Given the description of an element on the screen output the (x, y) to click on. 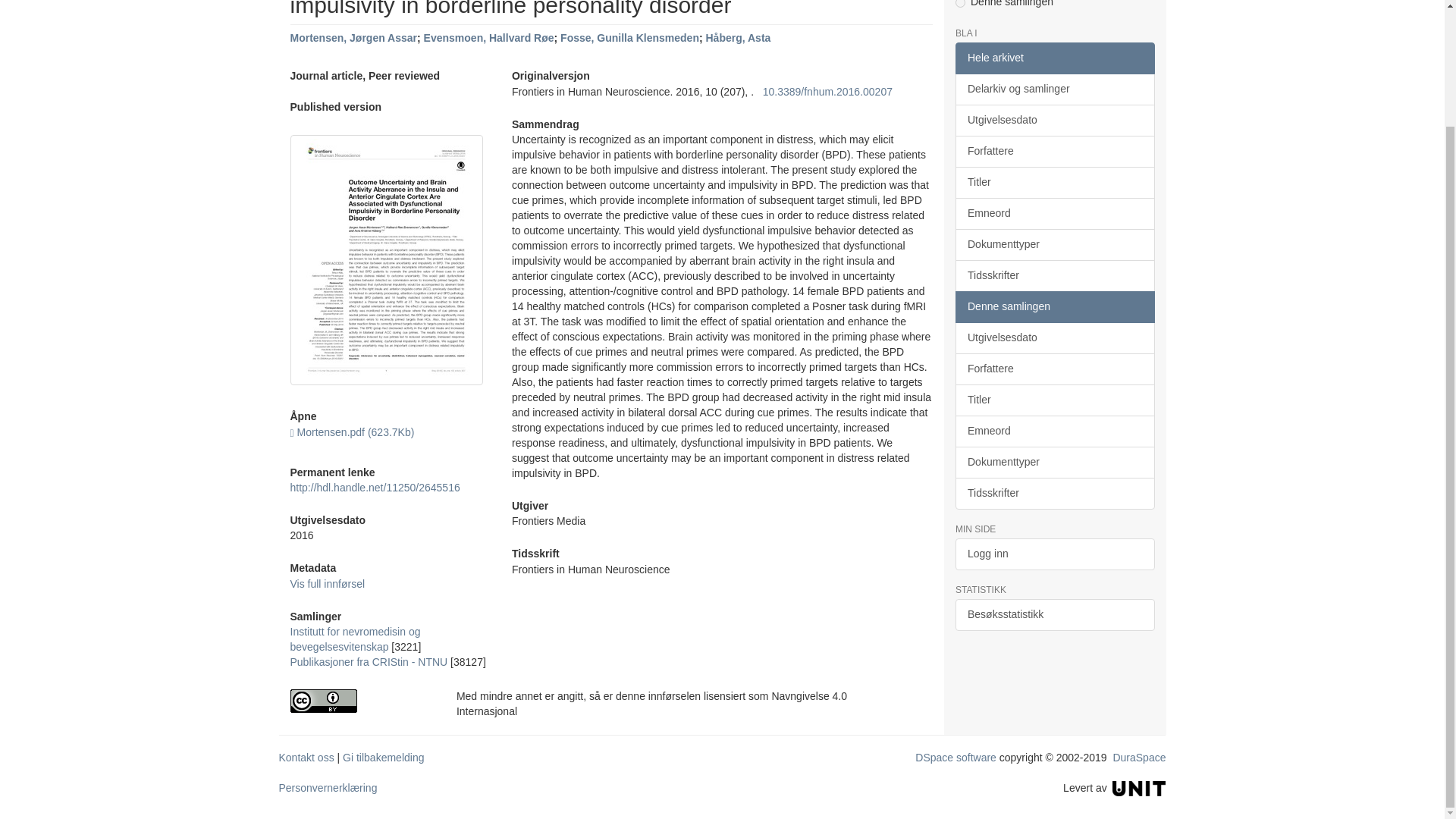
Navngivelse 4.0 Internasjonal (360, 700)
Delarkiv og samlinger (1054, 89)
Publikasjoner fra CRIStin - NTNU (367, 662)
Fosse, Gunilla Klensmeden (629, 37)
Institutt for nevromedisin og bevegelsesvitenskap (354, 638)
Unit (1139, 787)
Hele arkivet (1054, 58)
